Given the description of an element on the screen output the (x, y) to click on. 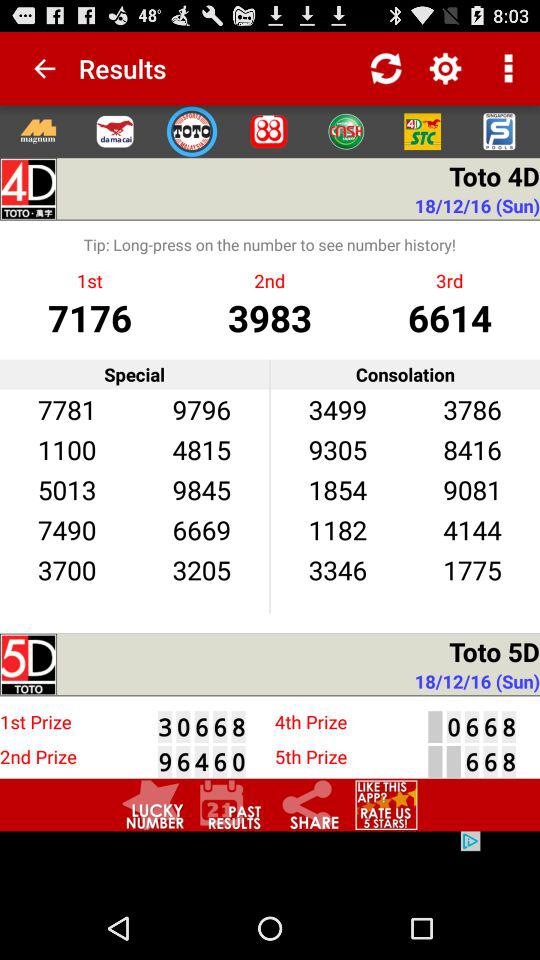
see your lucky number (153, 804)
